Given the description of an element on the screen output the (x, y) to click on. 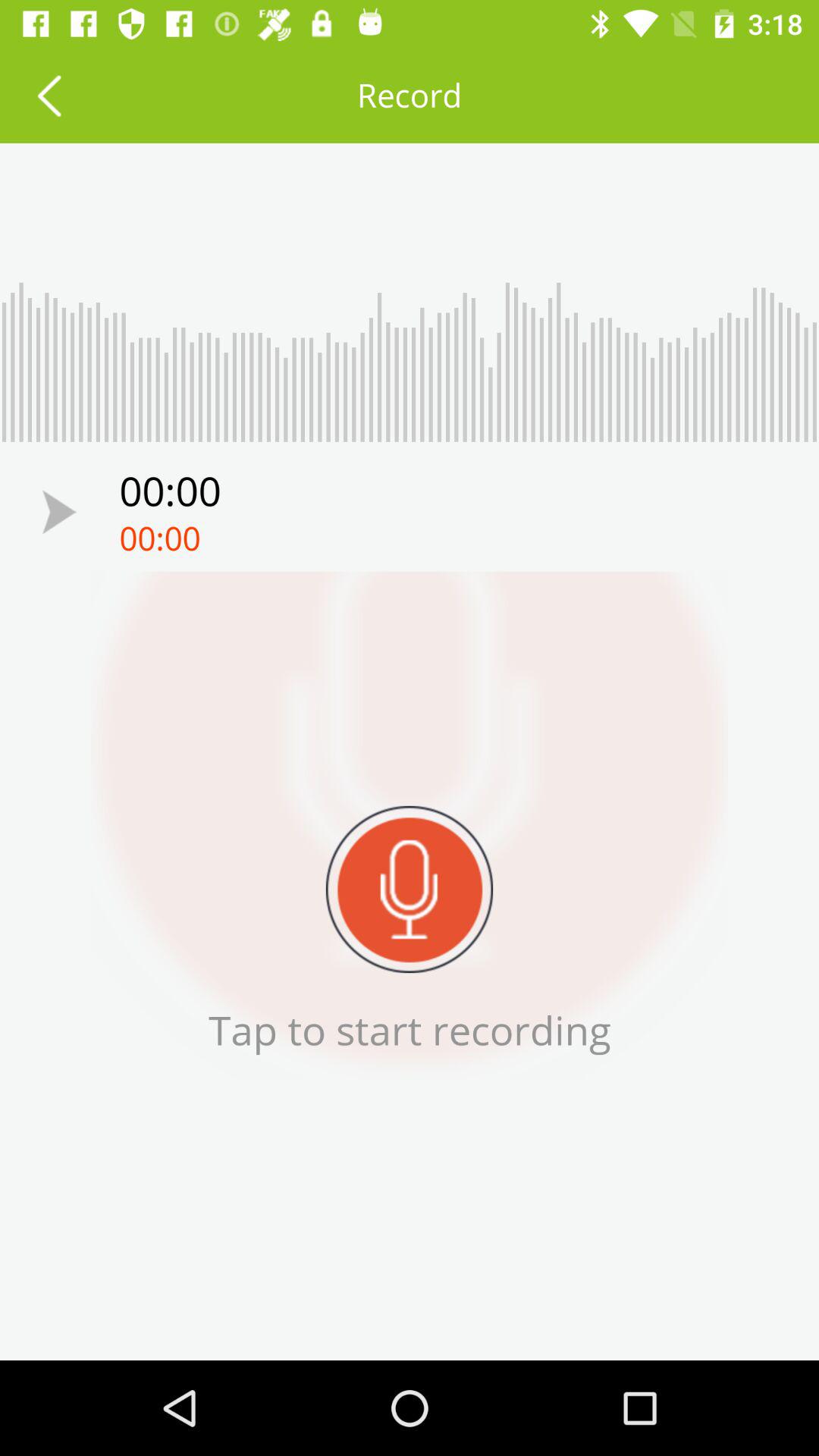
go to previous (59, 511)
